Given the description of an element on the screen output the (x, y) to click on. 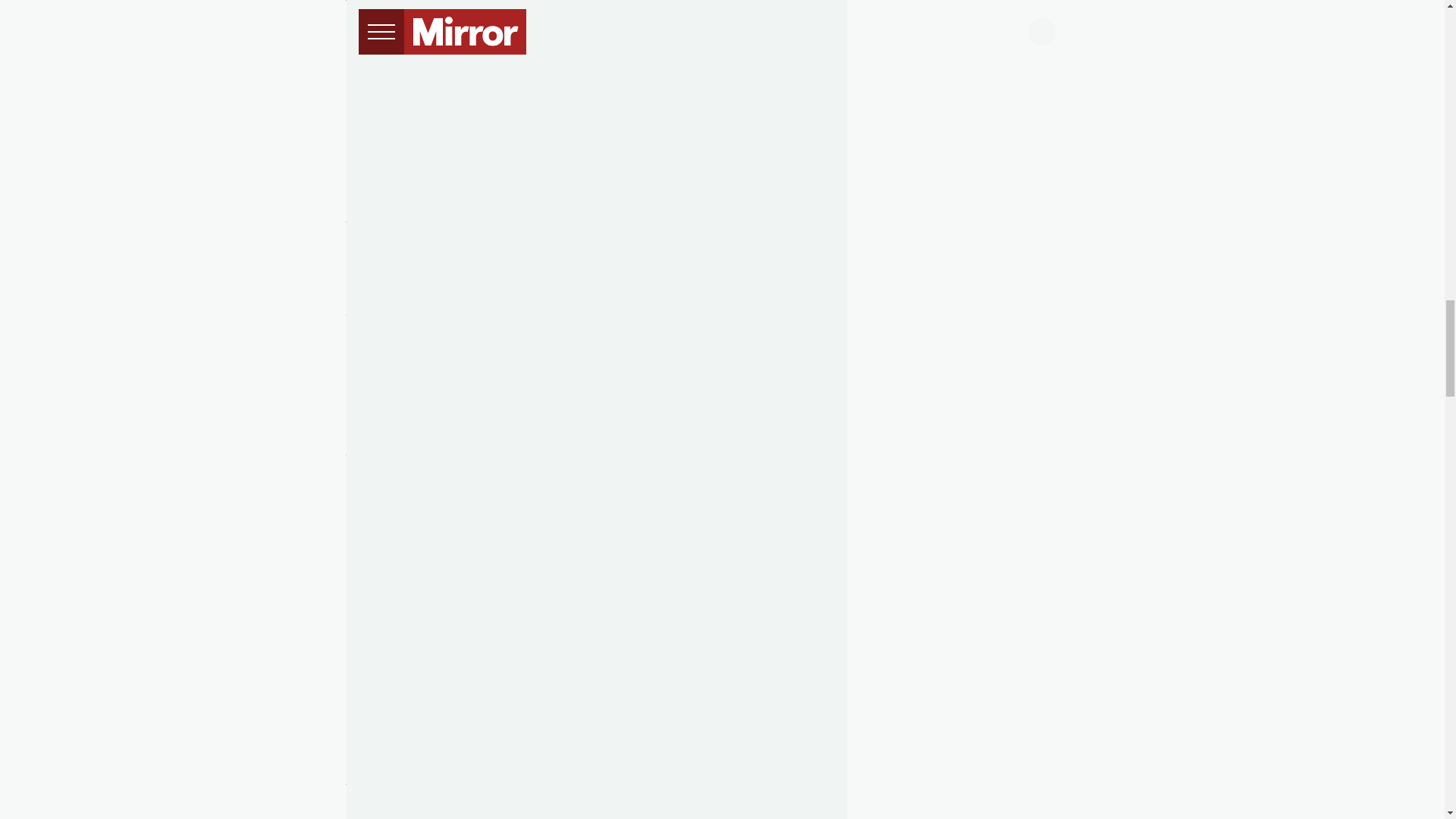
Netflix (694, 83)
coronavirus (382, 568)
